Given the description of an element on the screen output the (x, y) to click on. 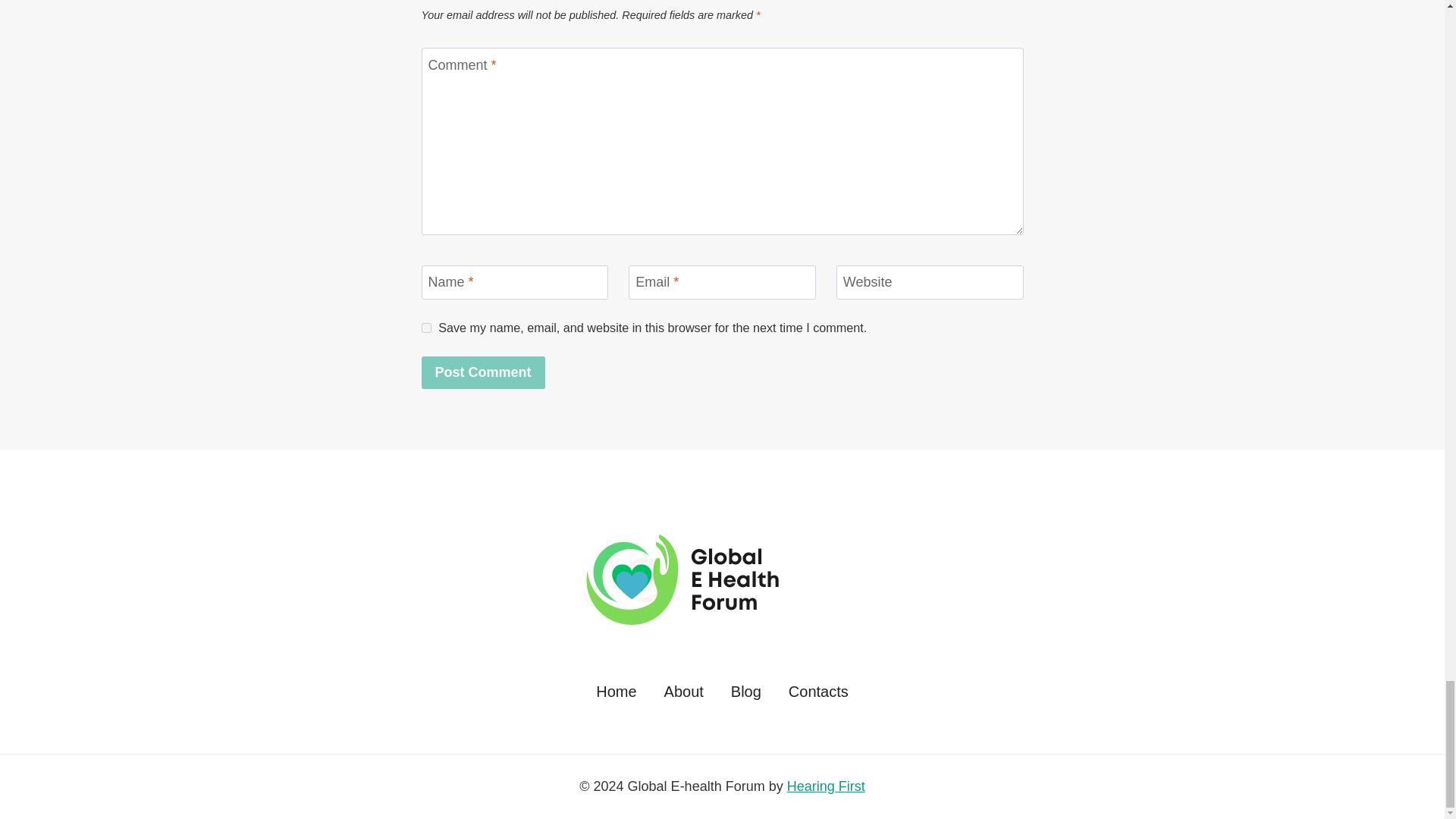
Post Comment (483, 372)
yes (426, 327)
